Given the description of an element on the screen output the (x, y) to click on. 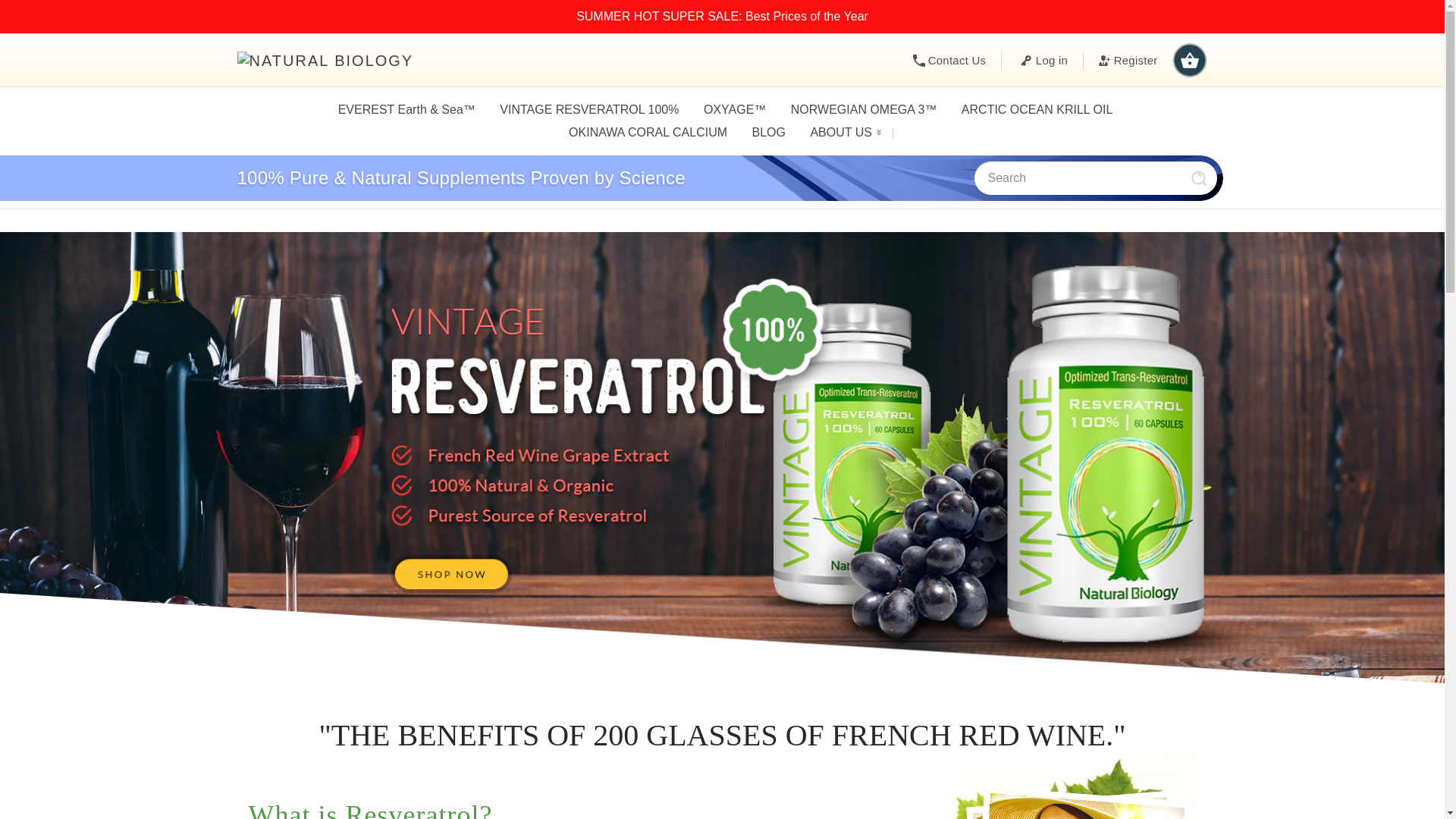
BLOG (765, 132)
ABOUT US (842, 132)
OKINAWA CORAL CALCIUM (644, 132)
Log in (1051, 59)
ARCTIC OCEAN KRILL OIL (1033, 109)
Contact Us (957, 59)
Register (1128, 59)
